Given the description of an element on the screen output the (x, y) to click on. 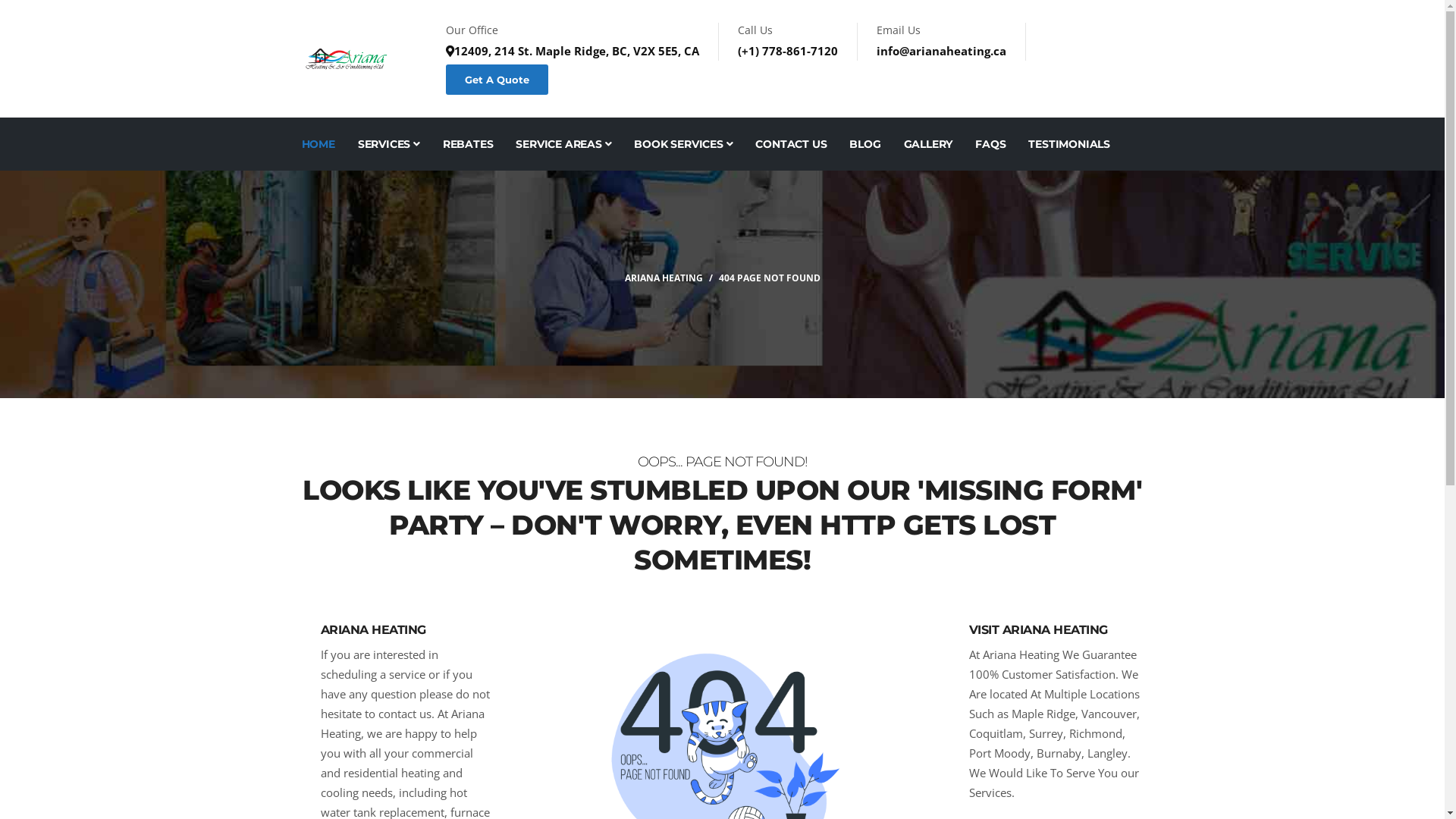
SERVICES Element type: text (388, 143)
GALLERY Element type: text (928, 143)
(+1) 778-861-7120 Element type: text (787, 50)
SERVICE AREAS Element type: text (563, 143)
FAQS Element type: text (990, 143)
REBATES Element type: text (467, 143)
ARIANA HEATING Element type: text (663, 278)
BLOG Element type: text (864, 143)
info@arianaheating.ca Element type: text (941, 50)
HOME Element type: text (318, 143)
12409, 214 St. Maple Ridge, BC, V2X 5E5, CA Element type: text (572, 50)
CONTACT US Element type: text (790, 143)
Get A Quote Element type: text (496, 79)
BOOK SERVICES Element type: text (682, 143)
TESTIMONIALS Element type: text (1069, 143)
